Given the description of an element on the screen output the (x, y) to click on. 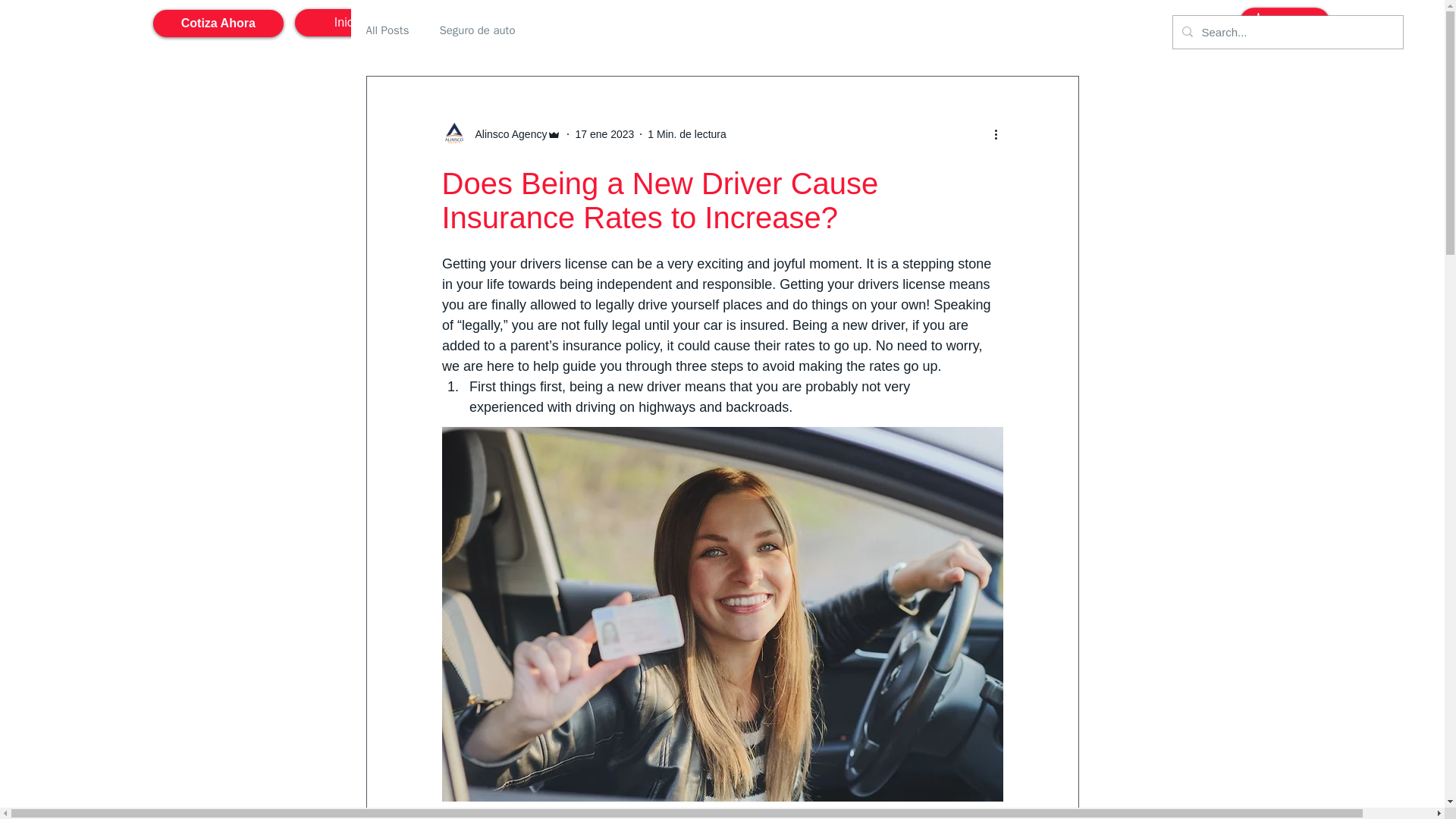
1 Min. de lectura (686, 133)
Seguro de auto (477, 29)
17 ene 2023 (604, 133)
All Posts (387, 29)
Inicio (349, 22)
Cotiza Ahora (217, 22)
Alinsco Agency (506, 133)
